Given the description of an element on the screen output the (x, y) to click on. 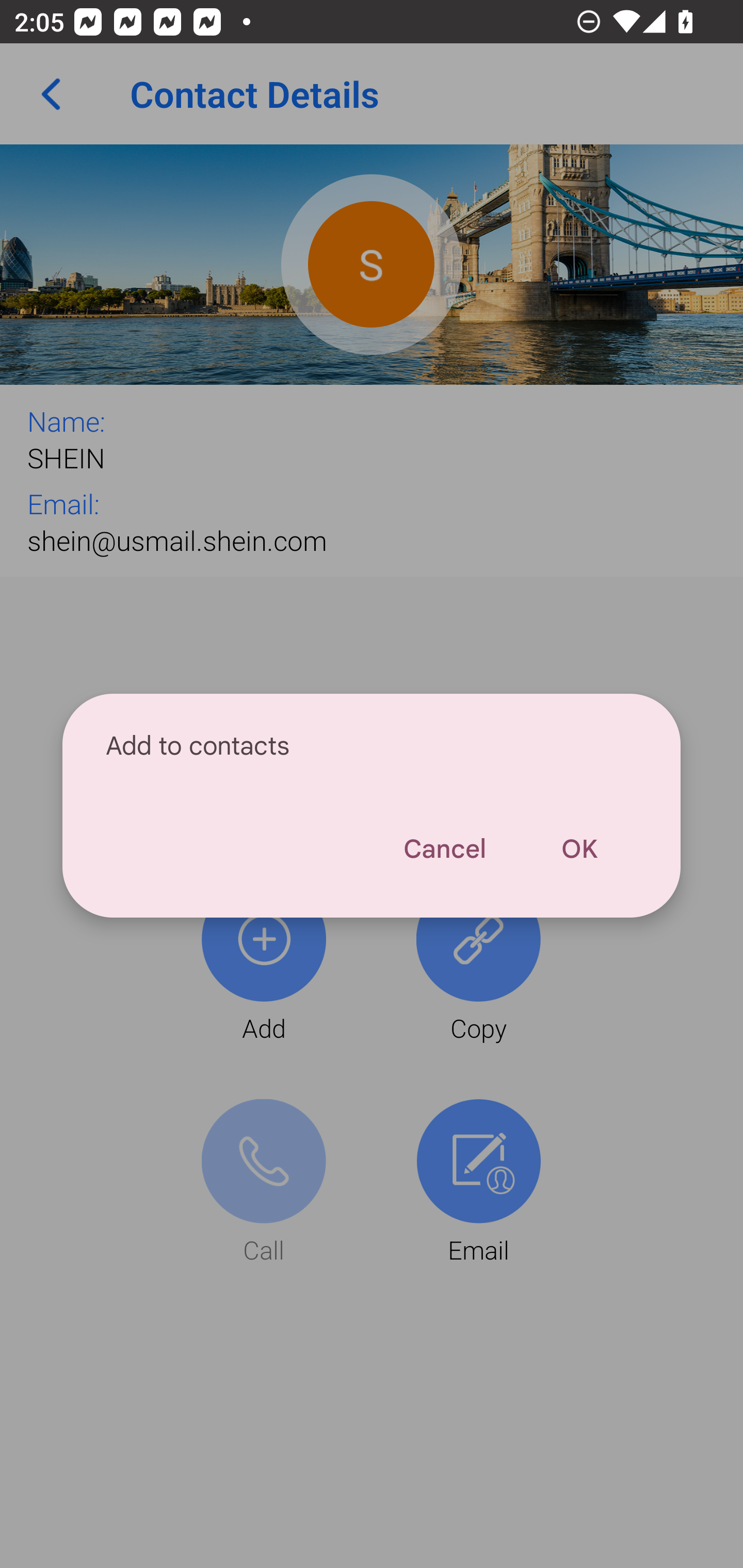
Cancel (444, 848)
OK (579, 848)
